Given the description of an element on the screen output the (x, y) to click on. 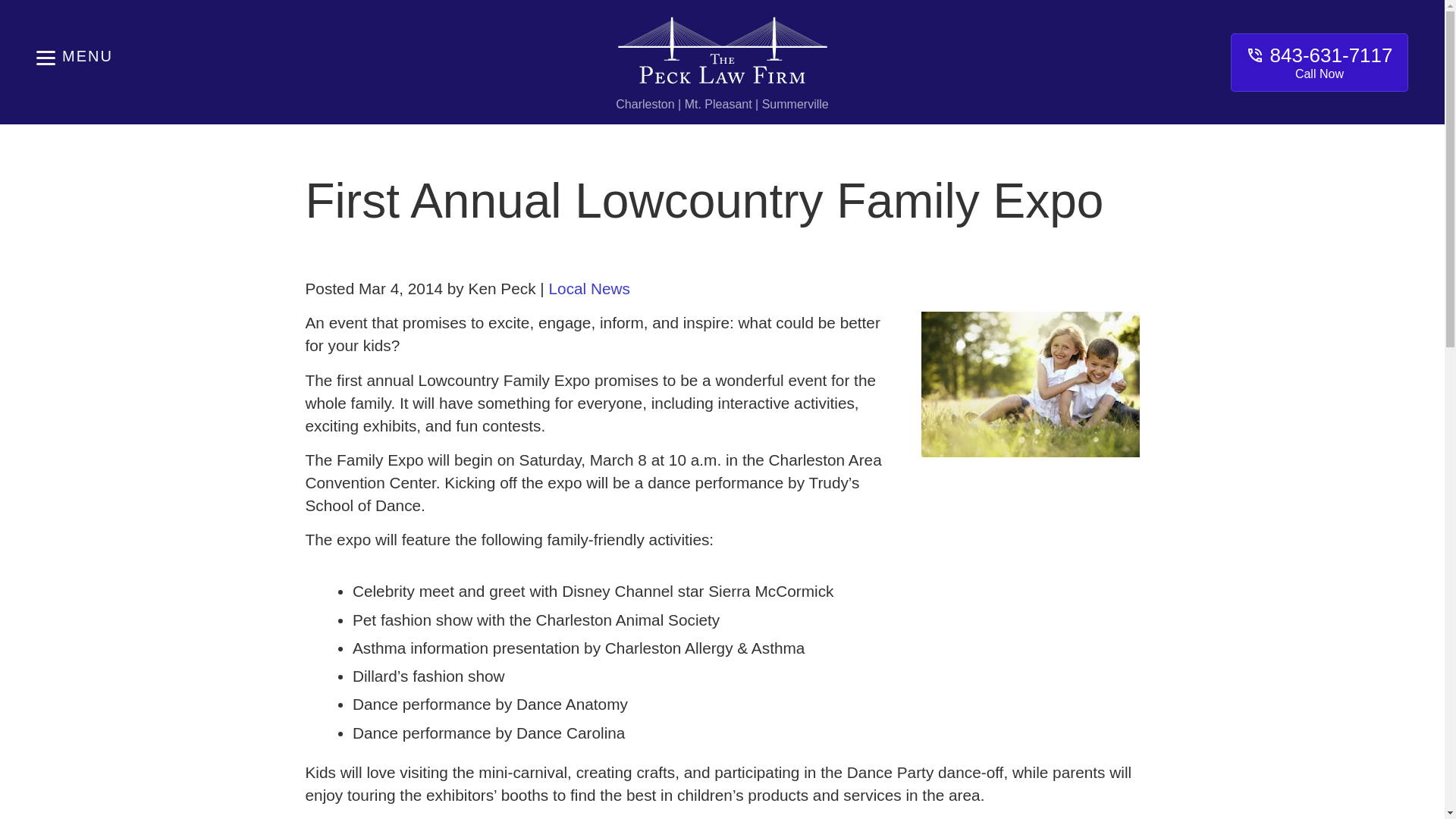
BOOK APPT (902, 13)
TEXT (541, 13)
Go (1318, 62)
Local News (180, 13)
